Given the description of an element on the screen output the (x, y) to click on. 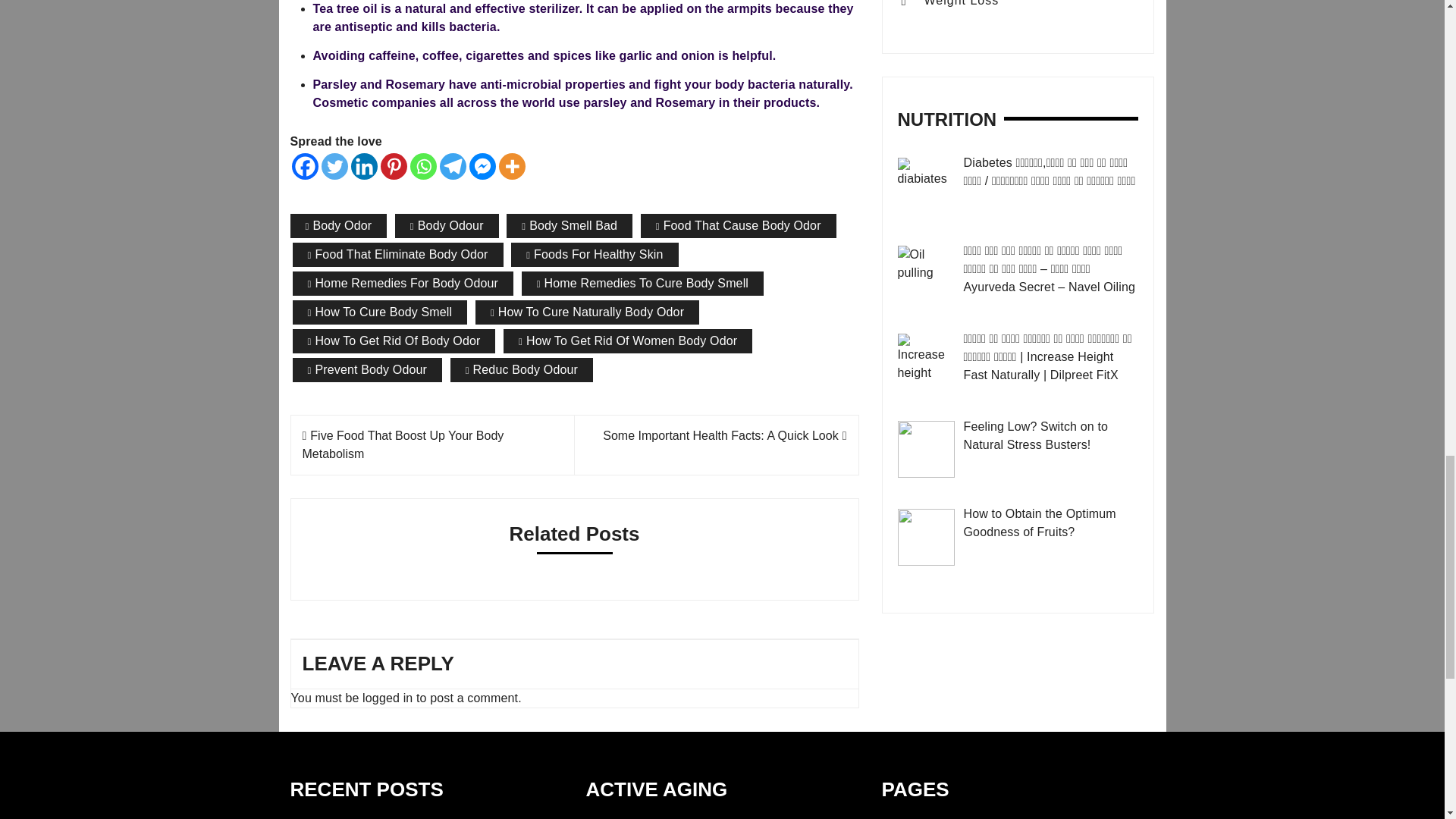
How To Get Rid Of Women Body Odor (627, 340)
Whatsapp (422, 166)
Home Remedies To Cure Body Smell (641, 283)
Body Odour (446, 225)
Foods For Healthy Skin (594, 254)
Prevent Body Odour (367, 369)
Pinterest (393, 166)
More (512, 166)
How To Cure Naturally Body Odor (587, 312)
Food That Cause Body Odor (737, 225)
Body Smell Bad (568, 225)
Telegram (452, 166)
Linkedin (363, 166)
Five Food That Boost Up Your Body Metabolism (402, 444)
Reduc Body Odour (520, 369)
